Given the description of an element on the screen output the (x, y) to click on. 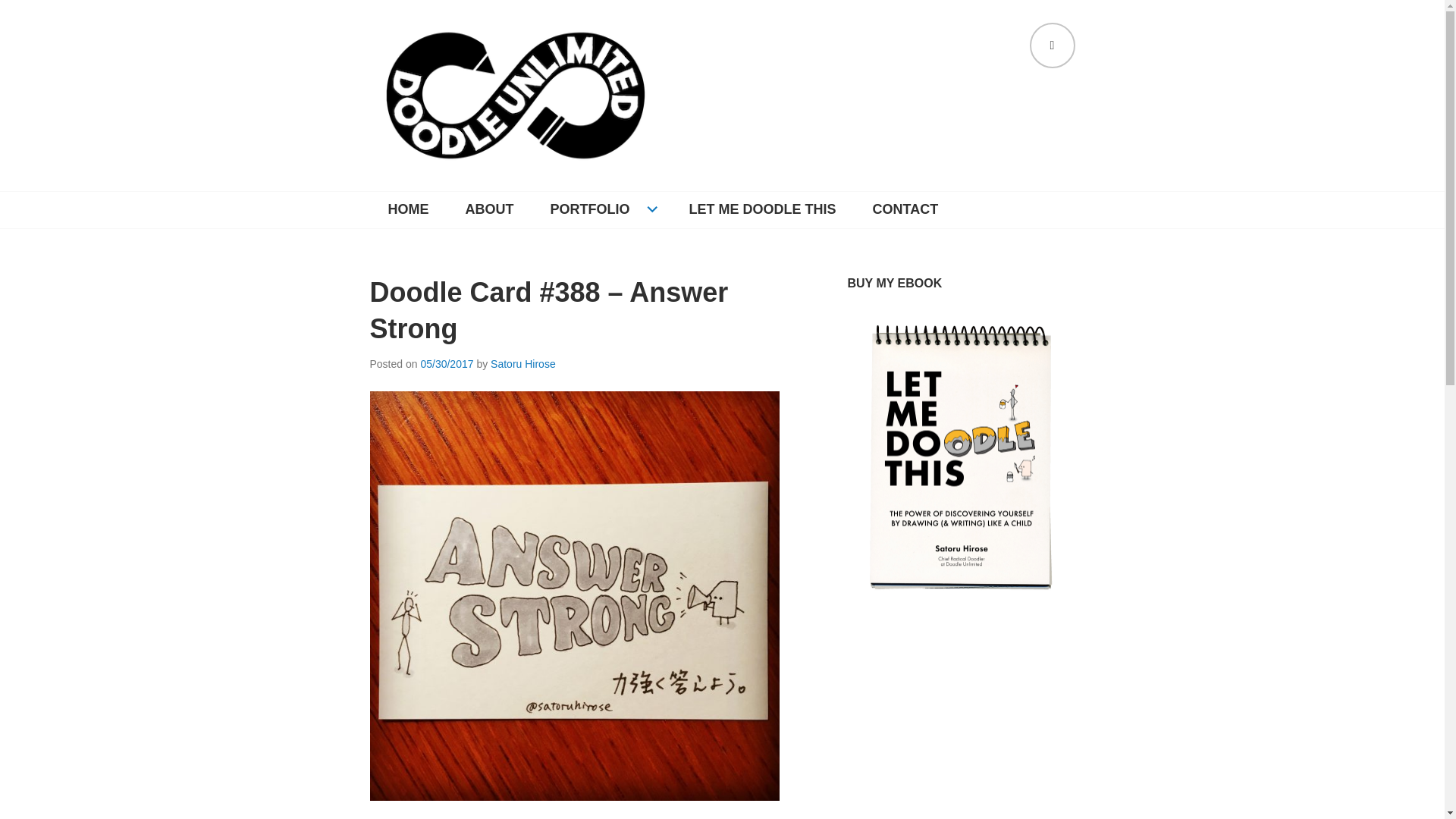
DOODLE UNLIMITED (506, 194)
PORTFOLIO (601, 209)
SEARCH (1052, 44)
HOME (407, 209)
LET ME DOODLE THIS (761, 209)
ABOUT (489, 209)
CONTACT (905, 209)
Satoru Hirose (523, 363)
